Given the description of an element on the screen output the (x, y) to click on. 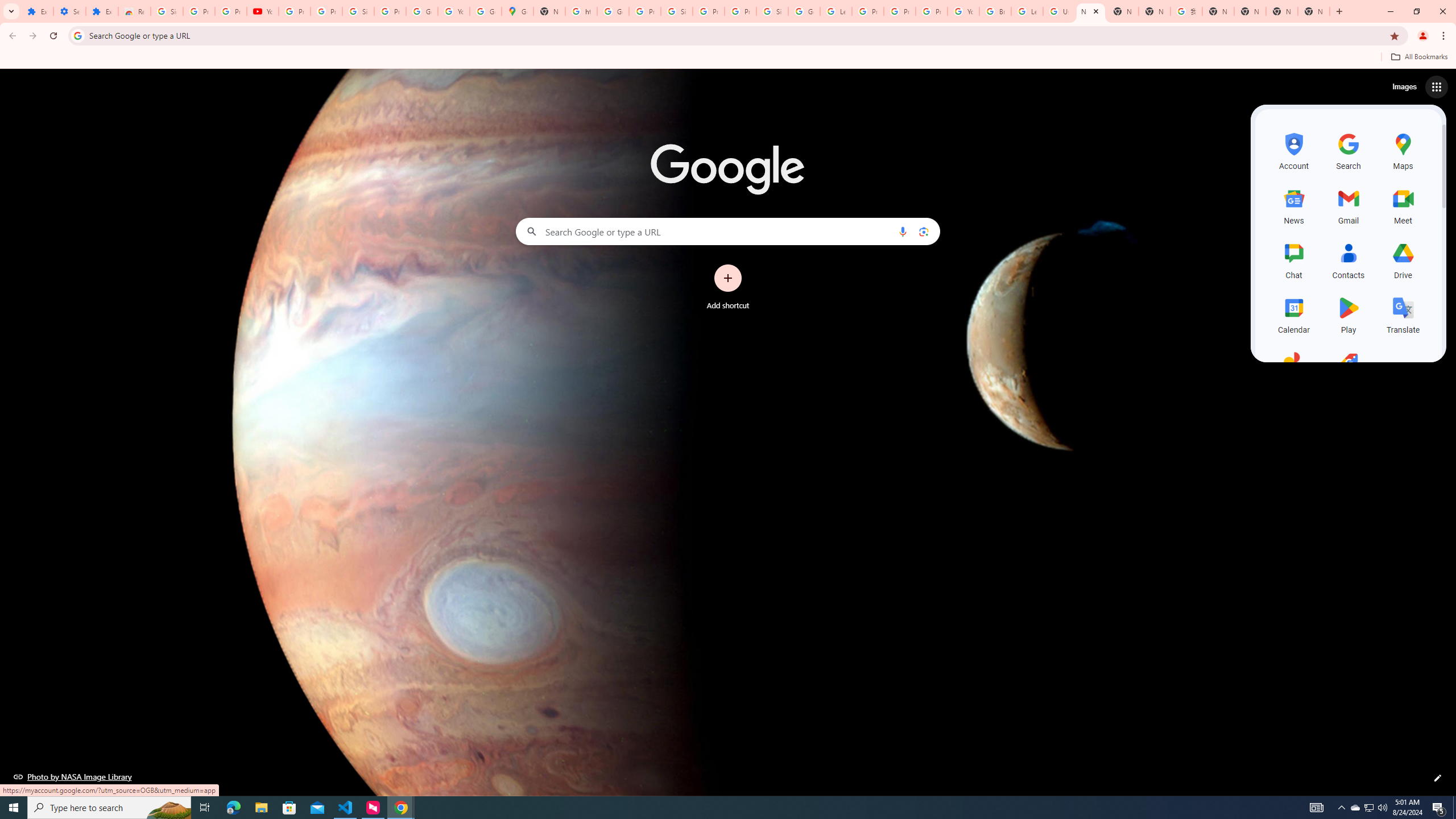
Settings (69, 11)
News, row 2 of 5 and column 1 of 3 in the first section (1293, 204)
YouTube (262, 11)
Account, row 1 of 5 and column 1 of 3 in the first section (1293, 149)
Customize this page (1437, 778)
Reviews: Helix Fruit Jump Arcade Game (134, 11)
